Given the description of an element on the screen output the (x, y) to click on. 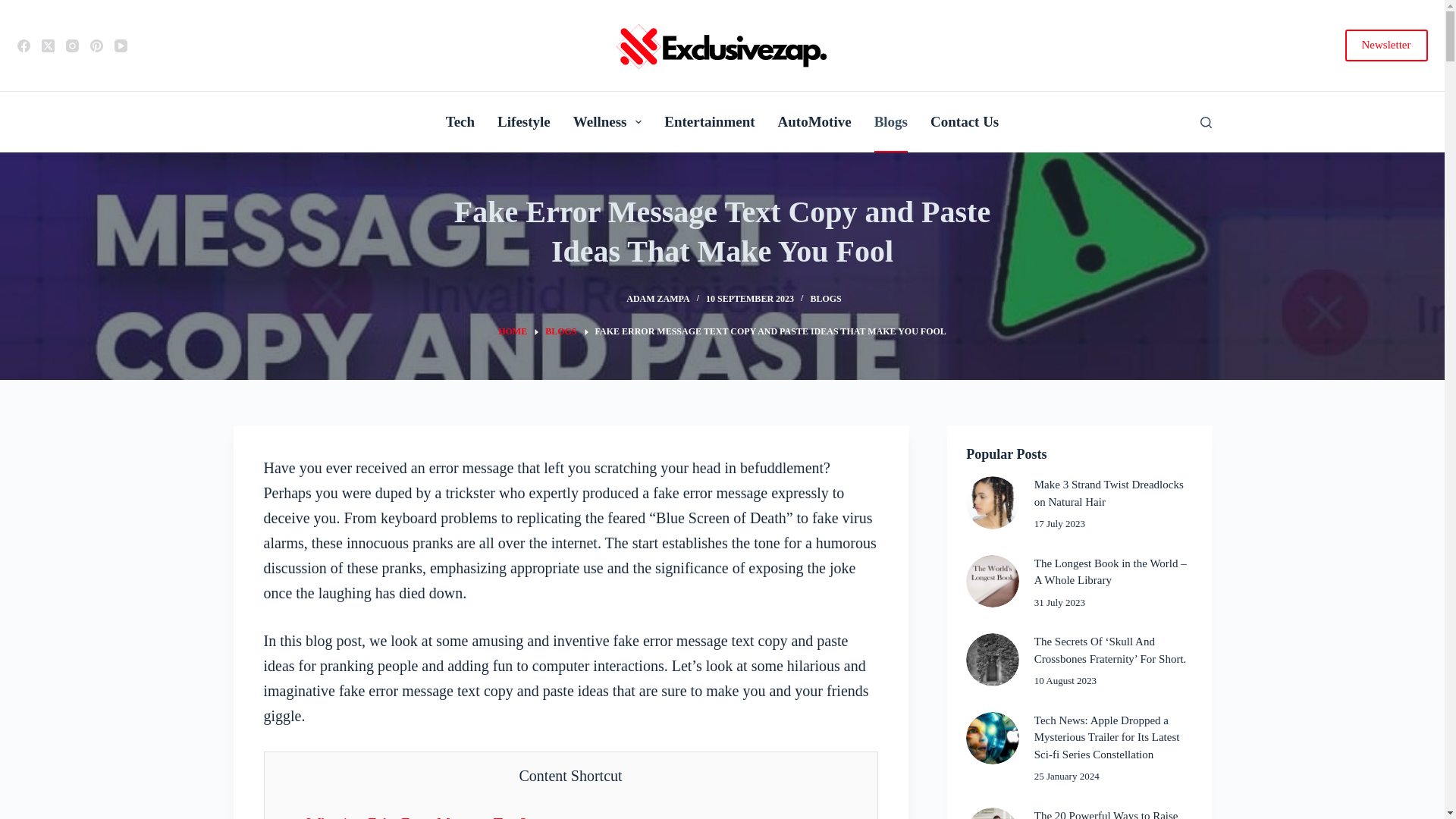
Posts by Adam Zampa (657, 298)
Wellness (607, 121)
Skip to content (15, 7)
Blogs (890, 121)
Newsletter (1386, 45)
AutoMotive (815, 121)
Contact Us (964, 121)
Entertainment (708, 121)
ADAM ZAMPA (657, 298)
